Given the description of an element on the screen output the (x, y) to click on. 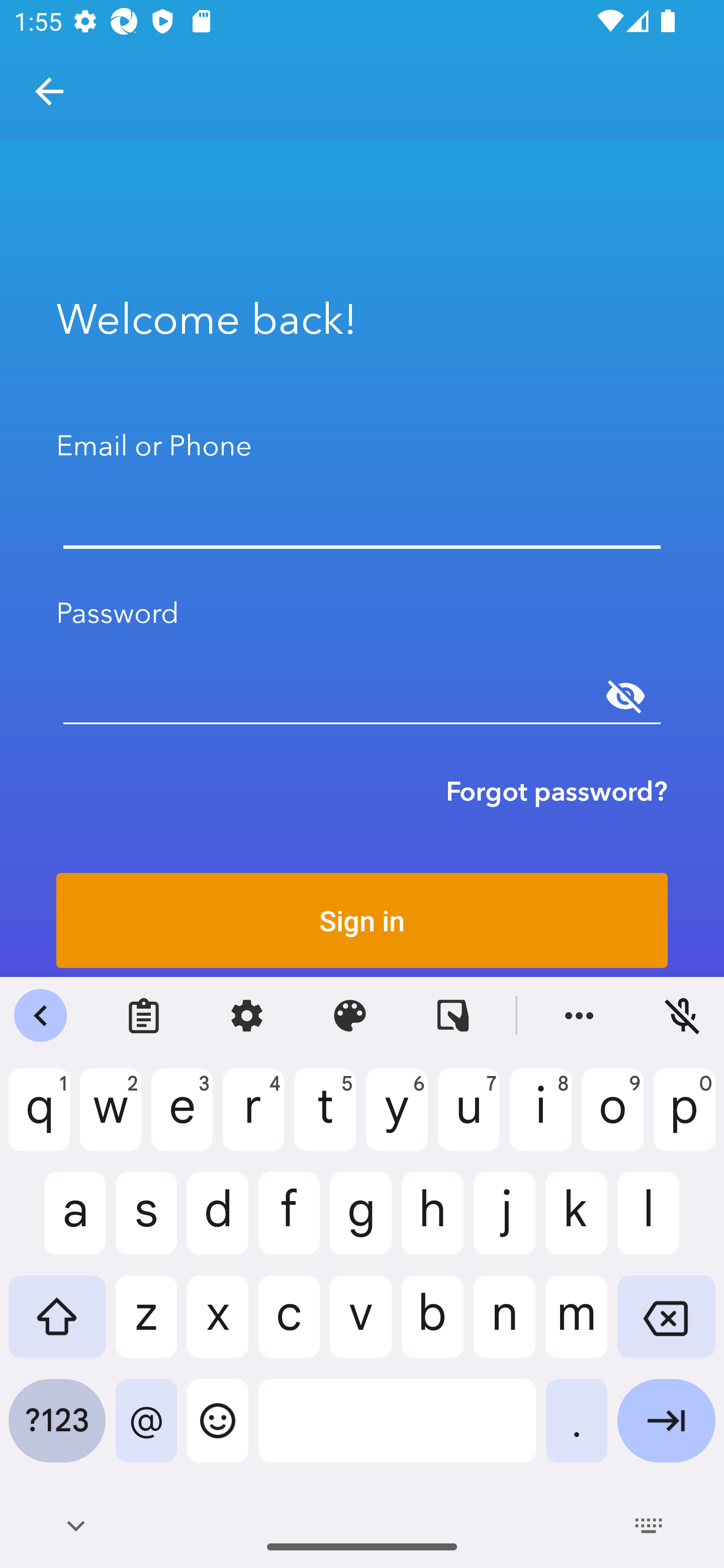
Navigate up (49, 91)
Show password (625, 695)
Forgot password? (556, 790)
Sign in (361, 920)
